Given the description of an element on the screen output the (x, y) to click on. 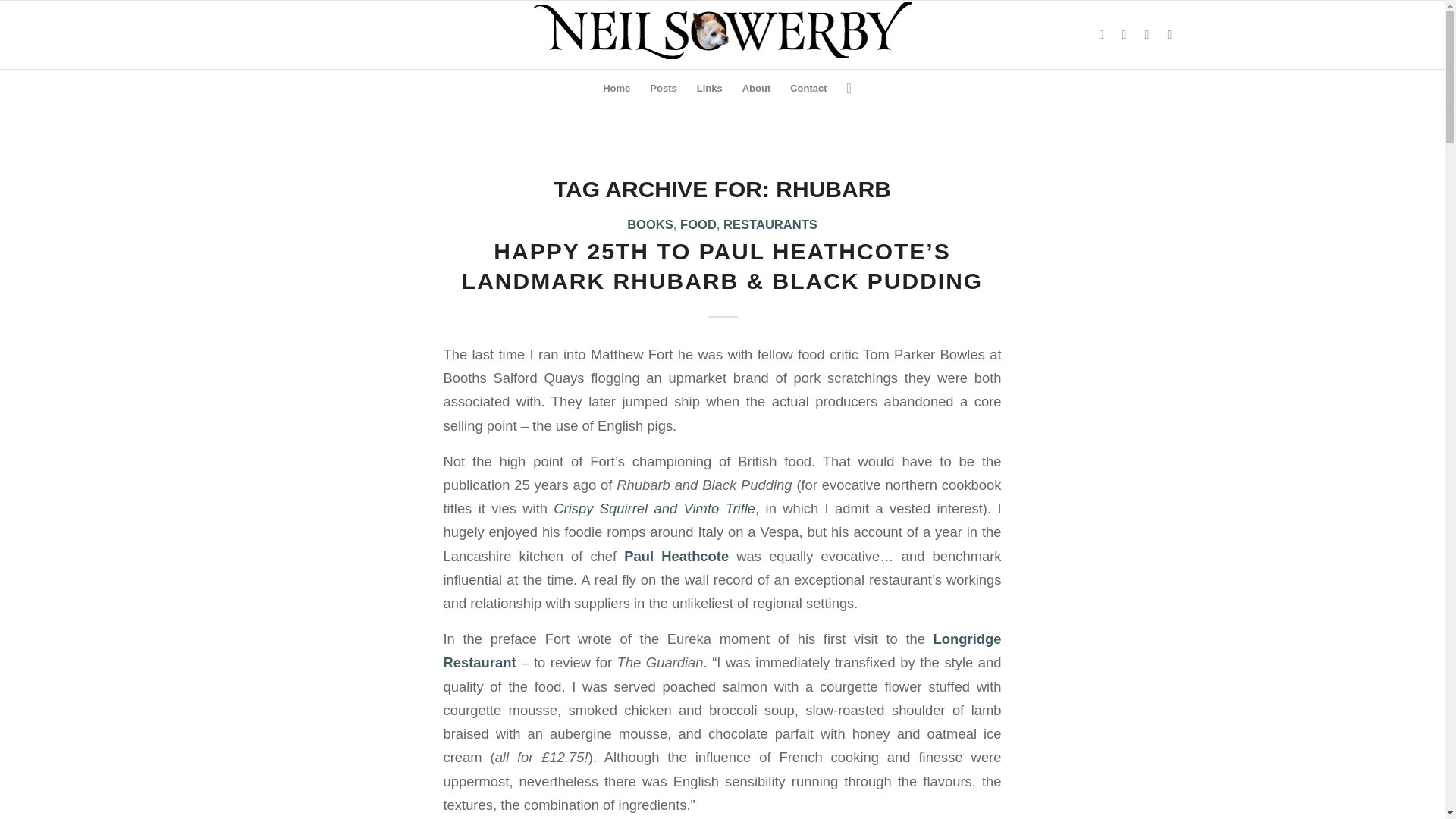
Links (709, 88)
Home (616, 88)
RESTAURANTS (769, 224)
NS-typemark-v1c (721, 29)
BOOKS (649, 224)
X (1101, 34)
Facebook (1169, 34)
Crispy Squirrel and Vimto Trifle (654, 508)
LinkedIn (1146, 34)
Instagram (1124, 34)
Contact (807, 88)
NS-typemark-v1c (721, 34)
FOOD (697, 224)
About (756, 88)
Posts (662, 88)
